Given the description of an element on the screen output the (x, y) to click on. 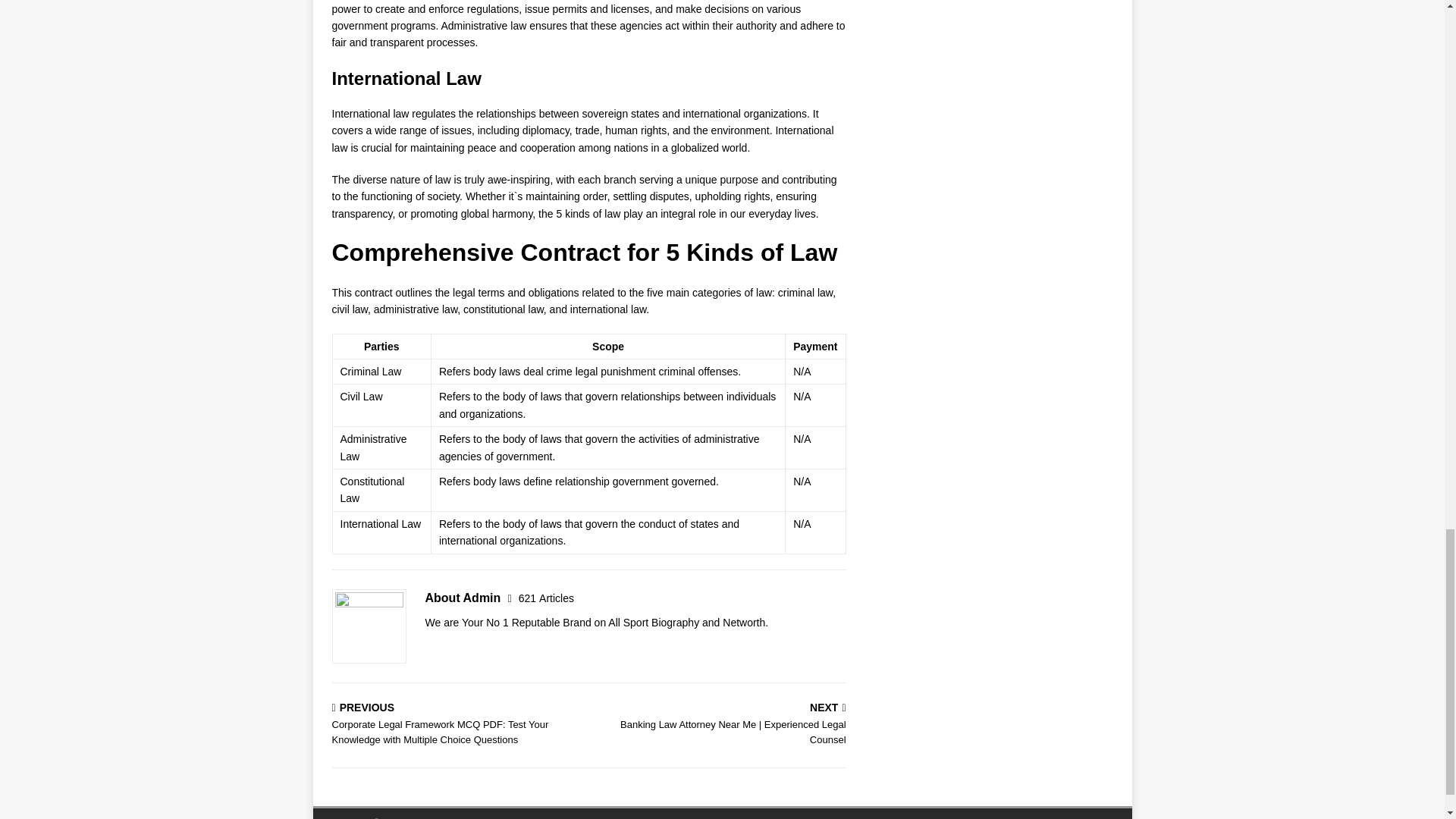
621 Articles (545, 598)
More articles written by Admin' (545, 598)
